Given the description of an element on the screen output the (x, y) to click on. 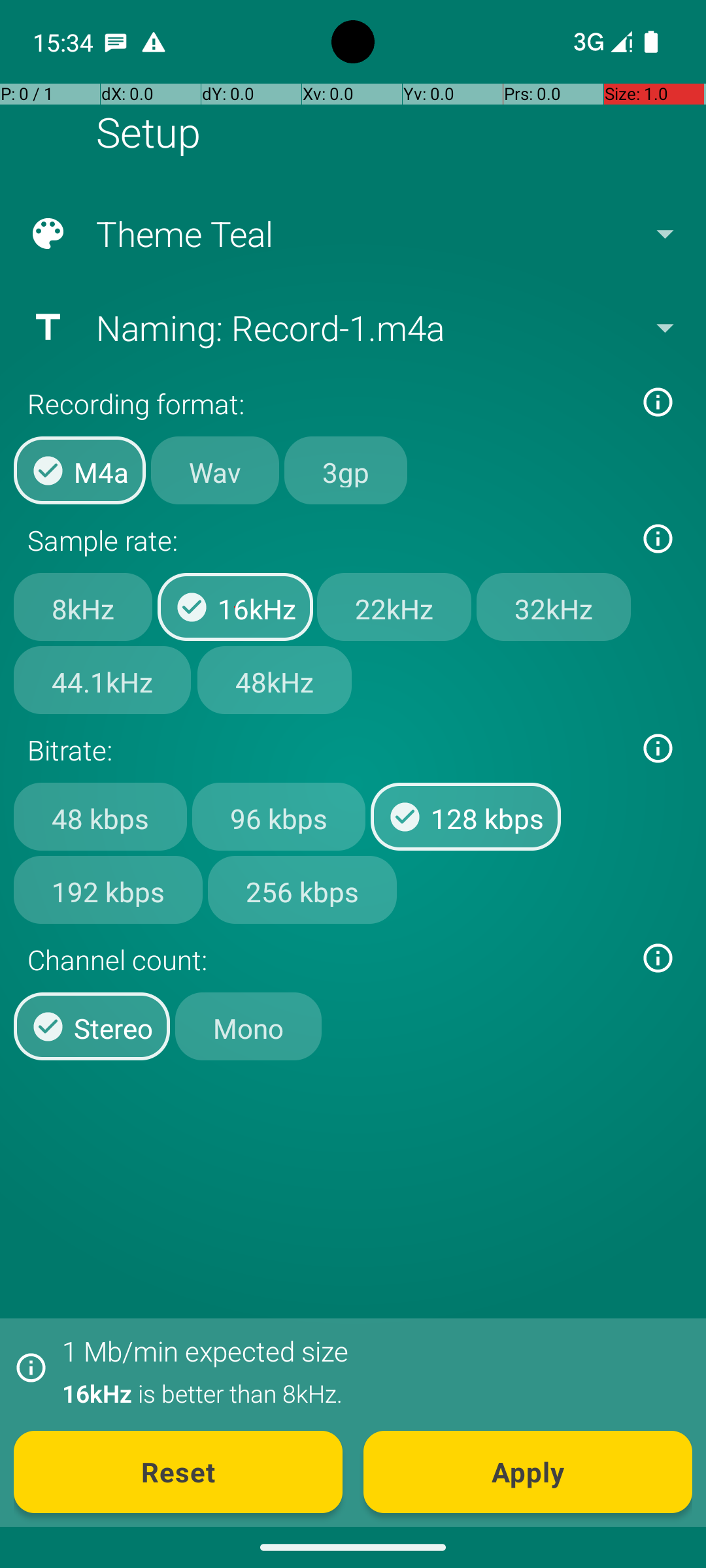
1 Mb/min expected size Element type: android.widget.TextView (205, 1350)
16kHz is better than 8kHz. Element type: android.widget.TextView (370, 1392)
Reset Element type: android.widget.Button (177, 1471)
Apply Element type: android.widget.Button (527, 1471)
Setup Element type: android.widget.TextView (148, 131)
Recording format: Element type: android.widget.TextView (325, 403)
M4a Element type: android.widget.TextView (79, 470)
Wav Element type: android.widget.TextView (215, 470)
3gp Element type: android.widget.TextView (345, 470)
Sample rate: Element type: android.widget.TextView (325, 539)
44.1kHz Element type: android.widget.TextView (101, 680)
16kHz Element type: android.widget.TextView (235, 606)
22kHz Element type: android.widget.TextView (394, 606)
32kHz Element type: android.widget.TextView (553, 606)
48kHz Element type: android.widget.TextView (274, 680)
8kHz Element type: android.widget.TextView (82, 606)
Bitrate: Element type: android.widget.TextView (325, 749)
128 kbps Element type: android.widget.TextView (465, 816)
192 kbps Element type: android.widget.TextView (107, 889)
256 kbps Element type: android.widget.TextView (301, 889)
48 kbps Element type: android.widget.TextView (99, 816)
96 kbps Element type: android.widget.TextView (278, 816)
Channel count: Element type: android.widget.TextView (325, 959)
Stereo Element type: android.widget.TextView (91, 1026)
Mono Element type: android.widget.TextView (248, 1026)
Theme Teal Element type: android.widget.TextView (352, 233)
Naming: Record-1.m4a Element type: android.widget.TextView (352, 327)
SMS Messenger notification:  Element type: android.widget.ImageView (115, 41)
Phone three bars. Element type: android.widget.FrameLayout (600, 41)
